Given the description of an element on the screen output the (x, y) to click on. 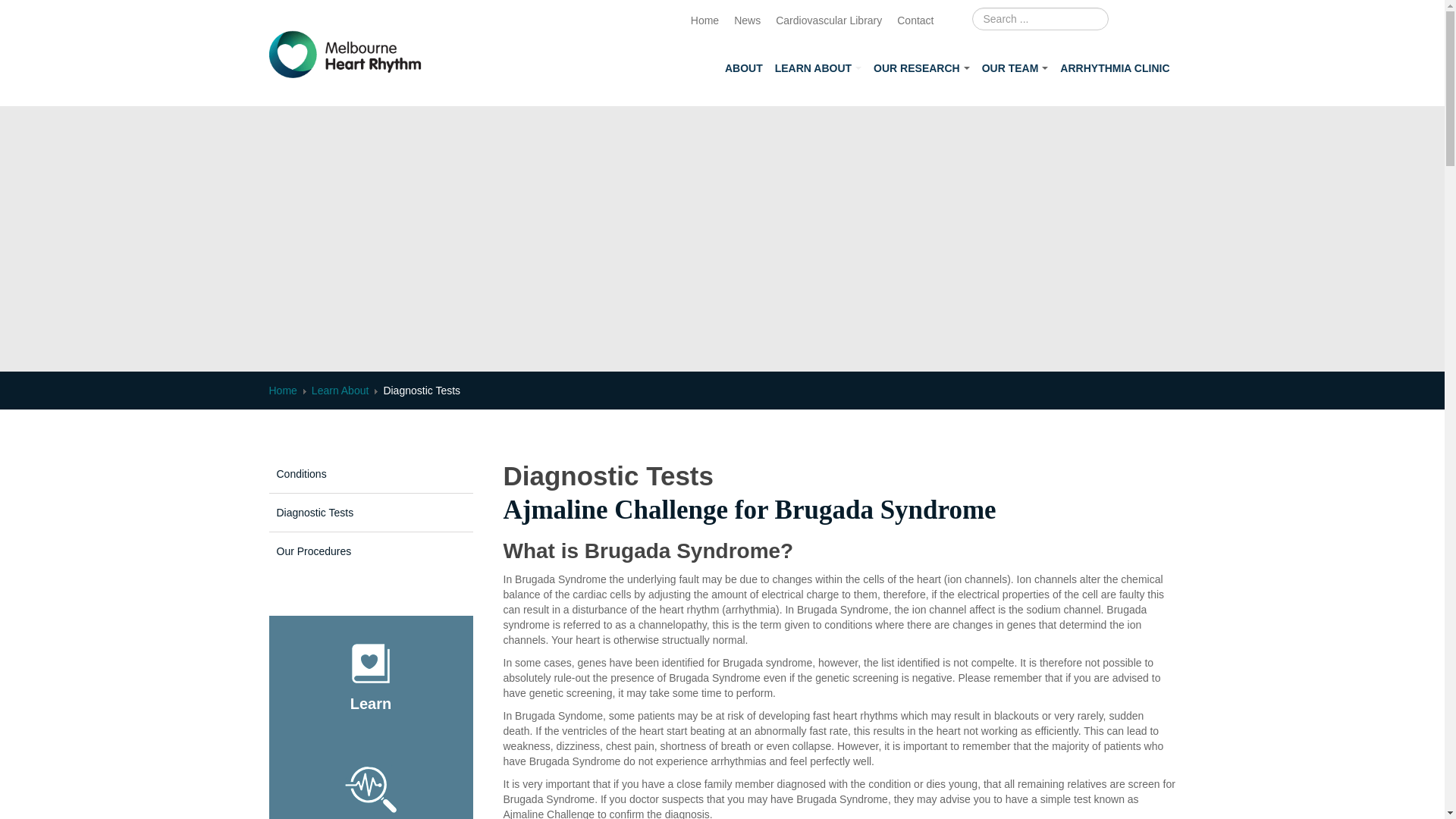
Cardiovascular Library (829, 20)
Home (704, 20)
ABOUT (743, 68)
ARRHYTHMIA CLINIC (1114, 68)
Melbourne Hearth Rhythm (345, 54)
OUR RESEARCH (921, 68)
Ajmaline Challenge for Brugada Syndrome (749, 509)
OUR TEAM (1014, 68)
LEARN ABOUT (817, 68)
News (746, 20)
